Given the description of an element on the screen output the (x, y) to click on. 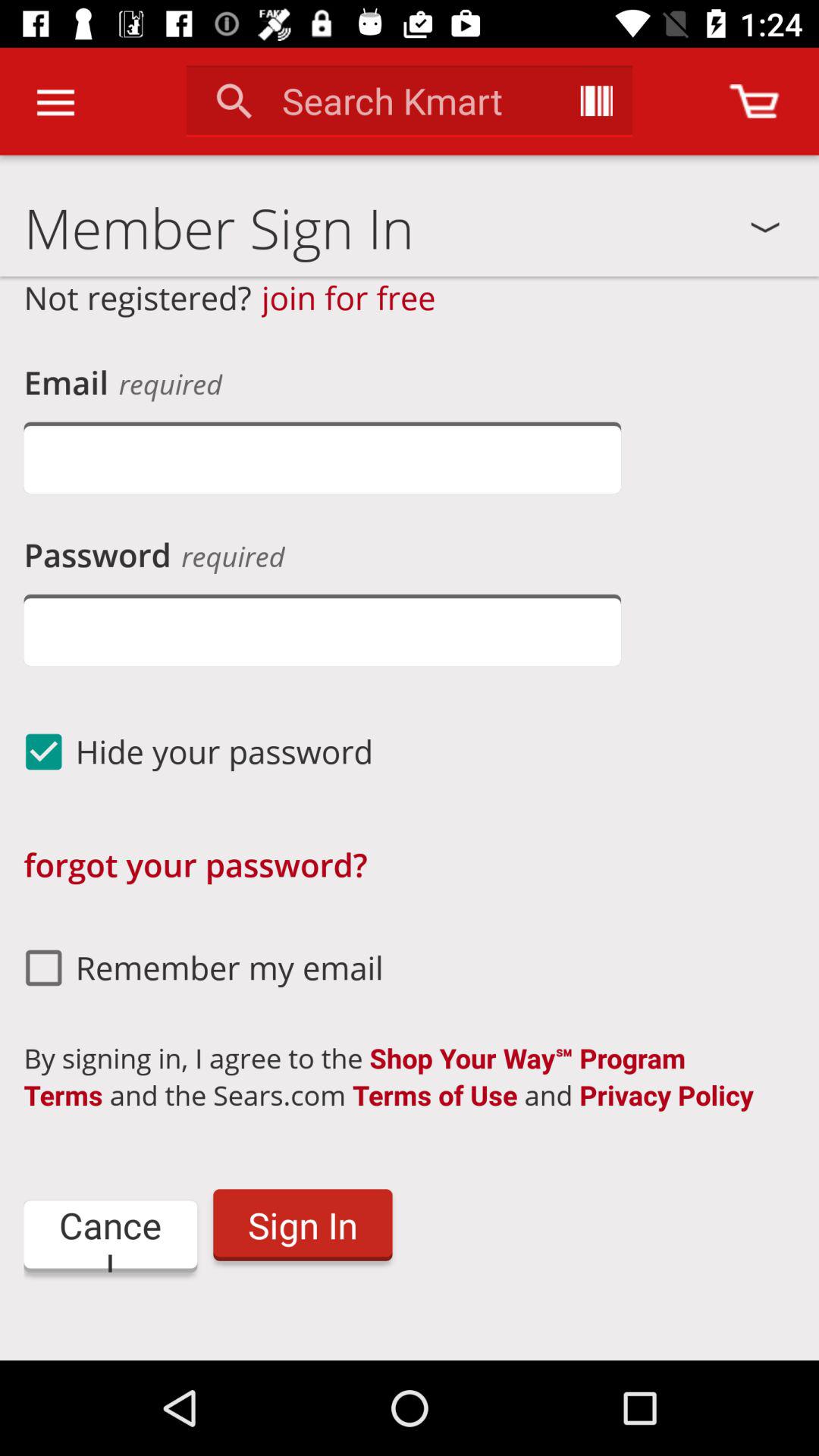
shopping cart (754, 101)
